Given the description of an element on the screen output the (x, y) to click on. 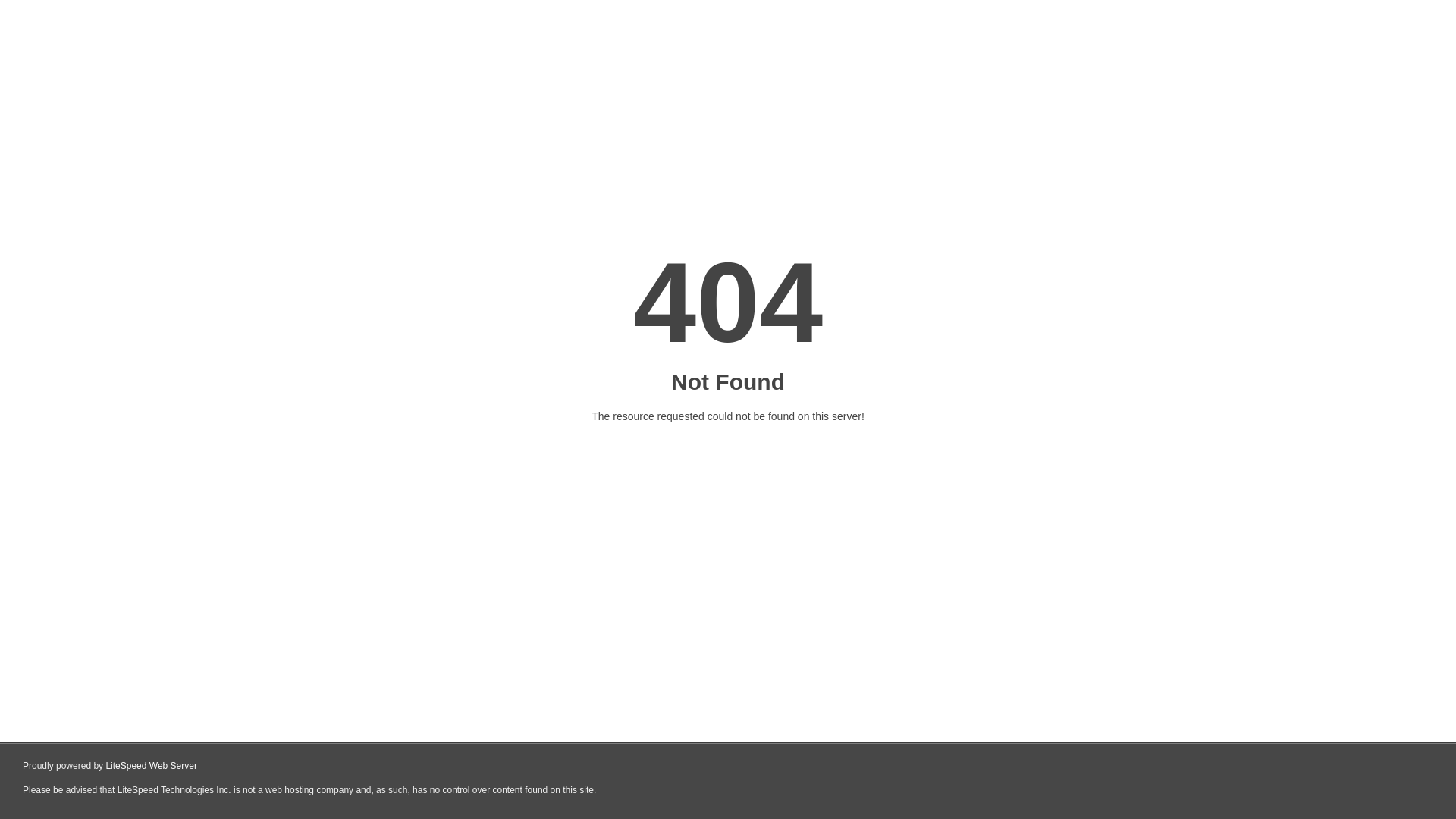
LiteSpeed Web Server Element type: text (151, 765)
